Given the description of an element on the screen output the (x, y) to click on. 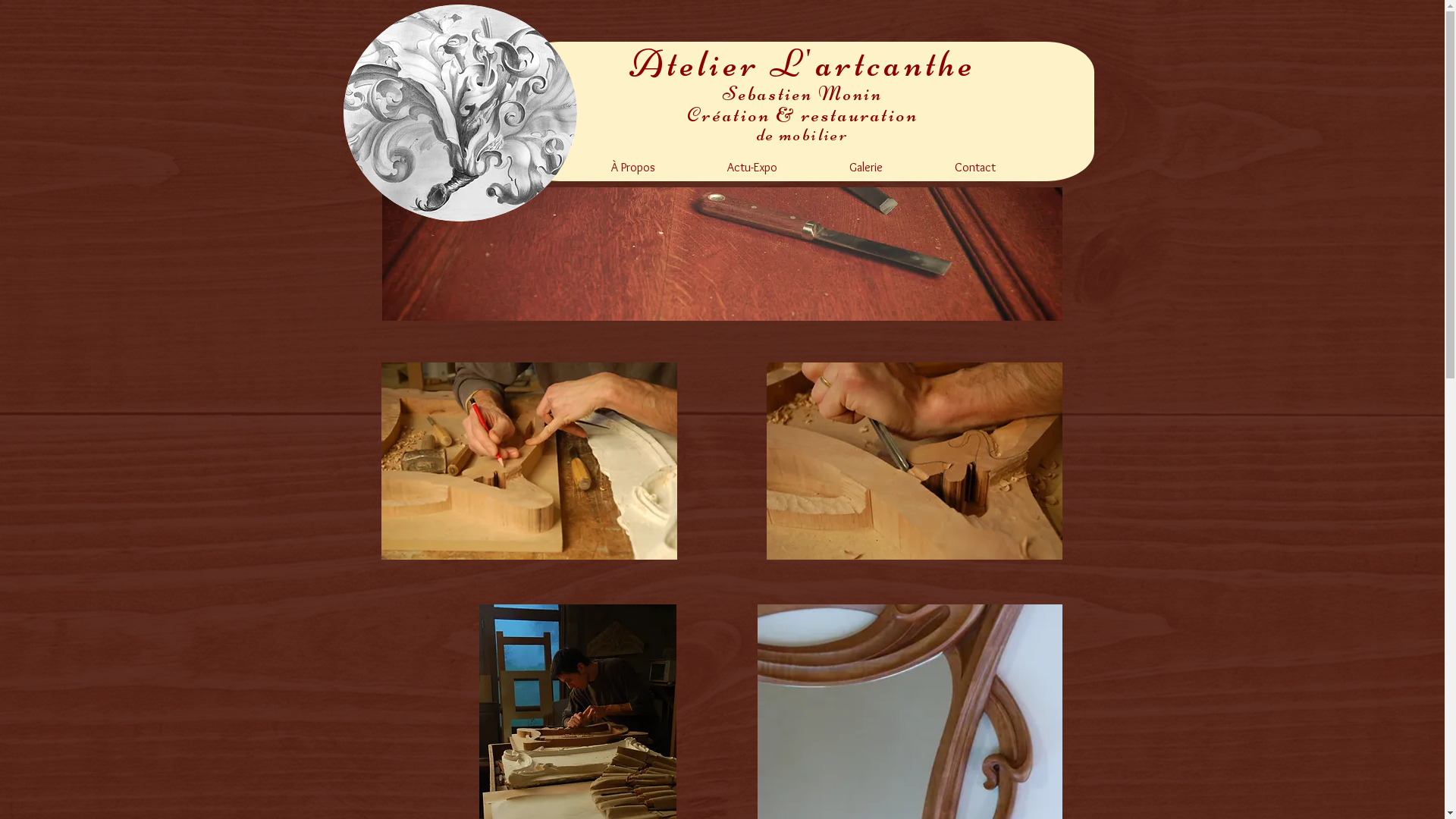
Galerie Element type: text (865, 166)
DSC_0055.JPG Element type: hover (722, 253)
dessin.jpg Element type: hover (459, 112)
Contact Element type: text (975, 166)
Actu-Expo Element type: text (752, 166)
DSC_0140.JPG Element type: hover (913, 460)
DSC_0107.JPG Element type: hover (528, 460)
